Given the description of an element on the screen output the (x, y) to click on. 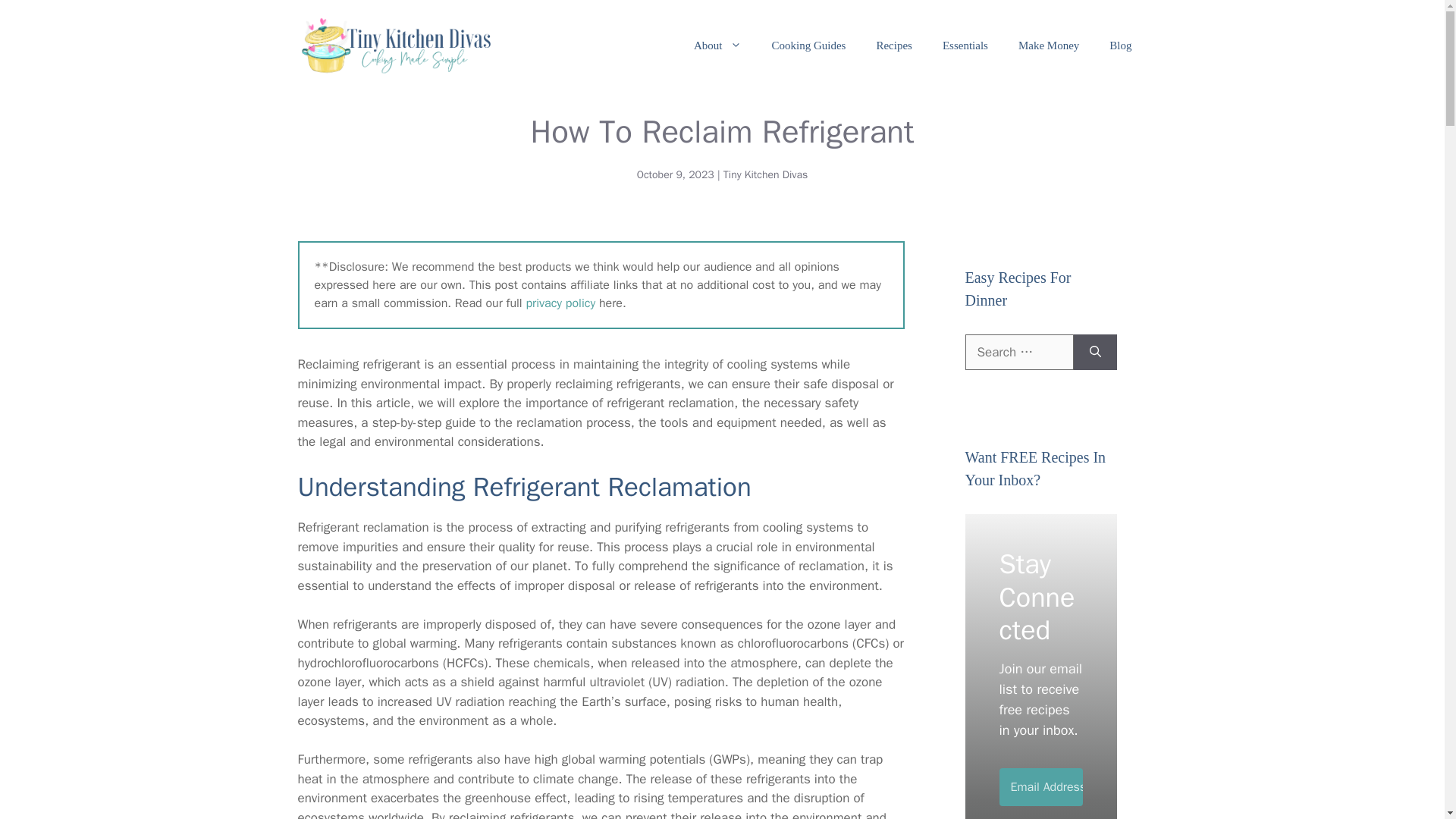
Cooking Guides (809, 44)
Essentials (965, 44)
About (717, 44)
Tiny Kitchen Divas (765, 174)
View all posts by Tiny Kitchen Divas (765, 174)
Make Money (1048, 44)
Recipes (893, 44)
Search for: (1018, 352)
Blog (1120, 44)
privacy policy (560, 303)
